Given the description of an element on the screen output the (x, y) to click on. 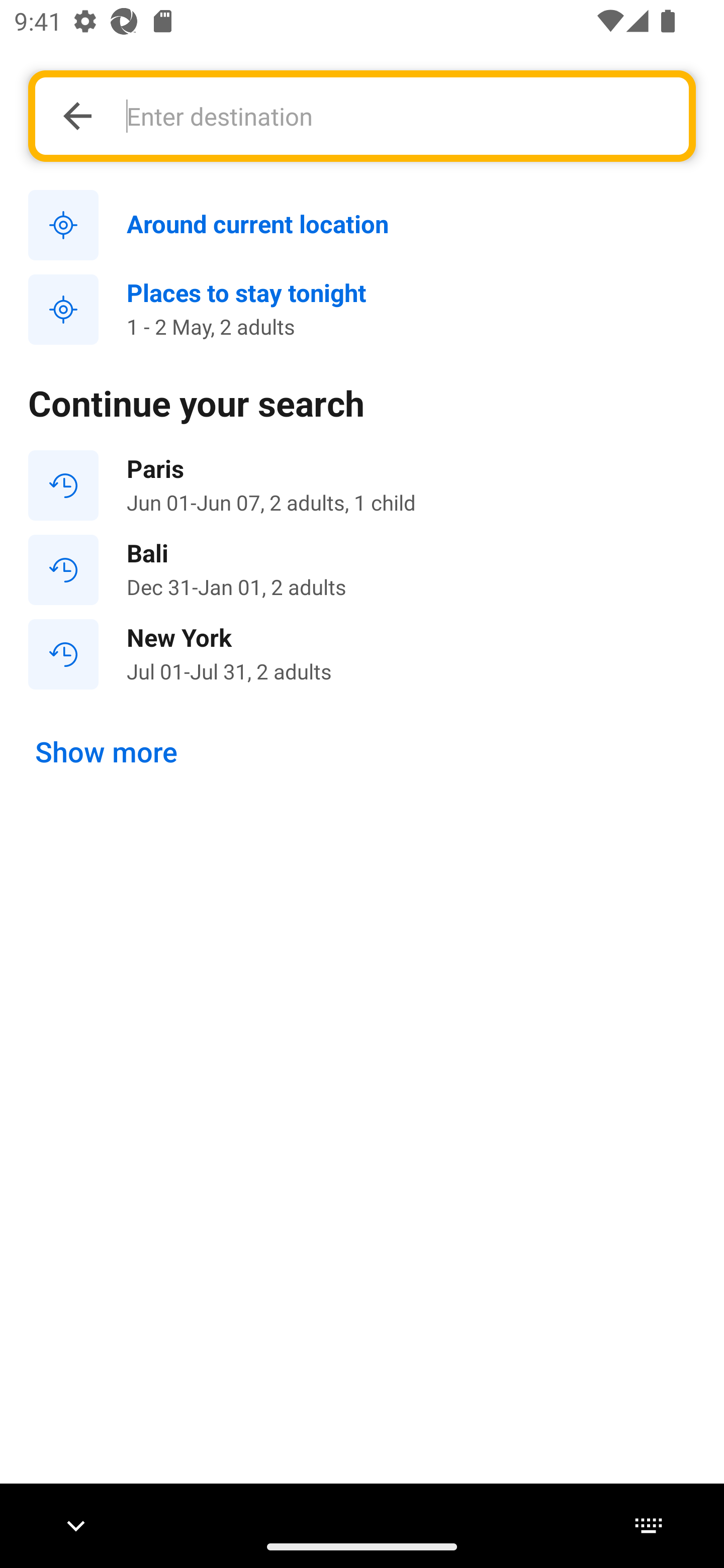
Enter destination (396, 115)
Around current location (362, 225)
Places to stay tonight 1 - 2 May, 2 adults (362, 309)
Paris Jun 01-Jun 07, 2 adults, 1 child (362, 485)
Bali Dec 31-Jan 01, 2 adults  (362, 569)
New York Jul 01-Jul 31, 2 adults  (362, 653)
Show more (106, 752)
